Given the description of an element on the screen output the (x, y) to click on. 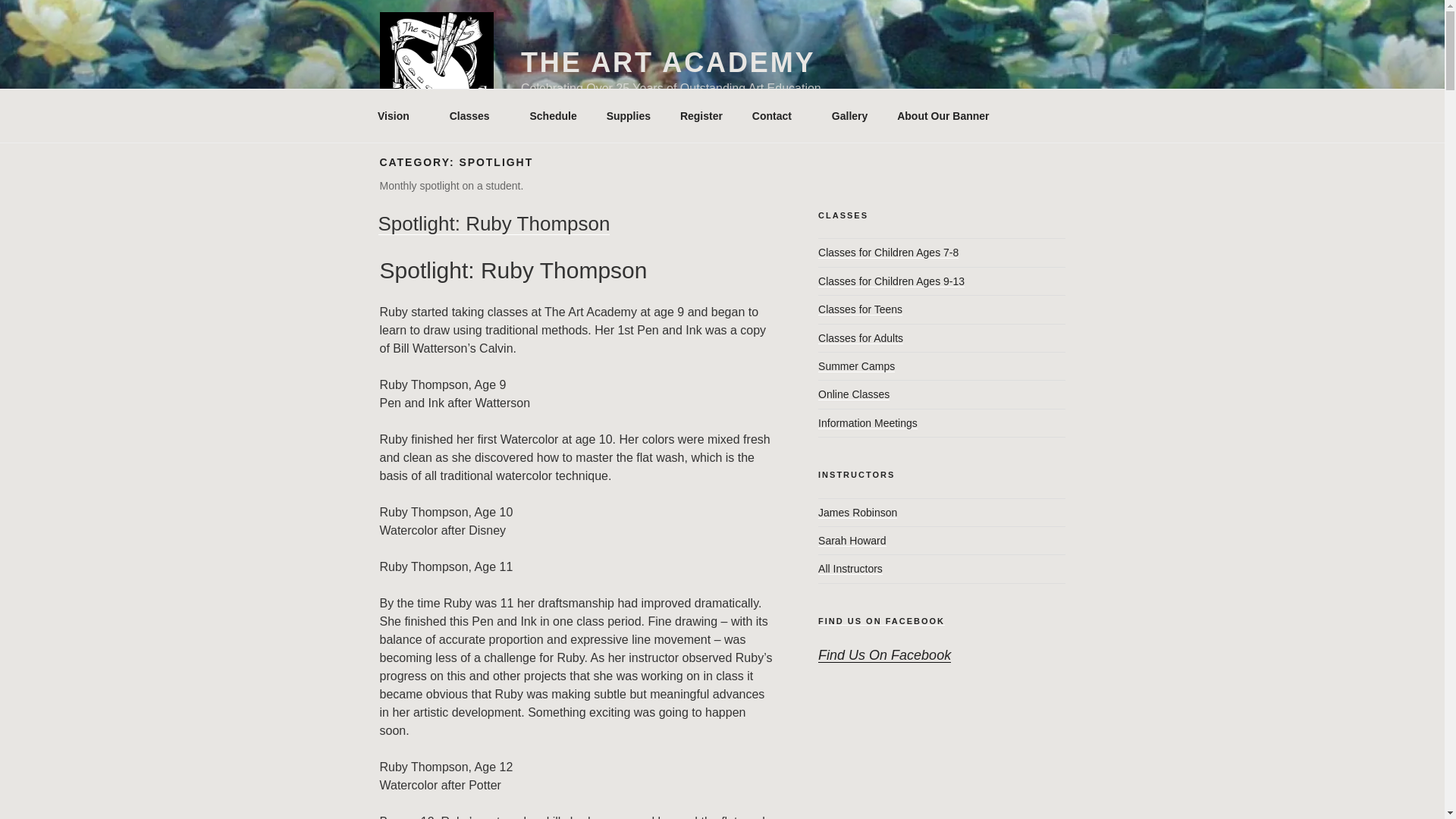
THE ART ACADEMY (668, 61)
Spotlight: Ruby Thompson (493, 223)
Register (700, 115)
Supplies (627, 115)
Contact (776, 115)
About Our Banner (943, 115)
Vision (398, 115)
Classes (474, 115)
Gallery (849, 115)
Schedule (552, 115)
